Given the description of an element on the screen output the (x, y) to click on. 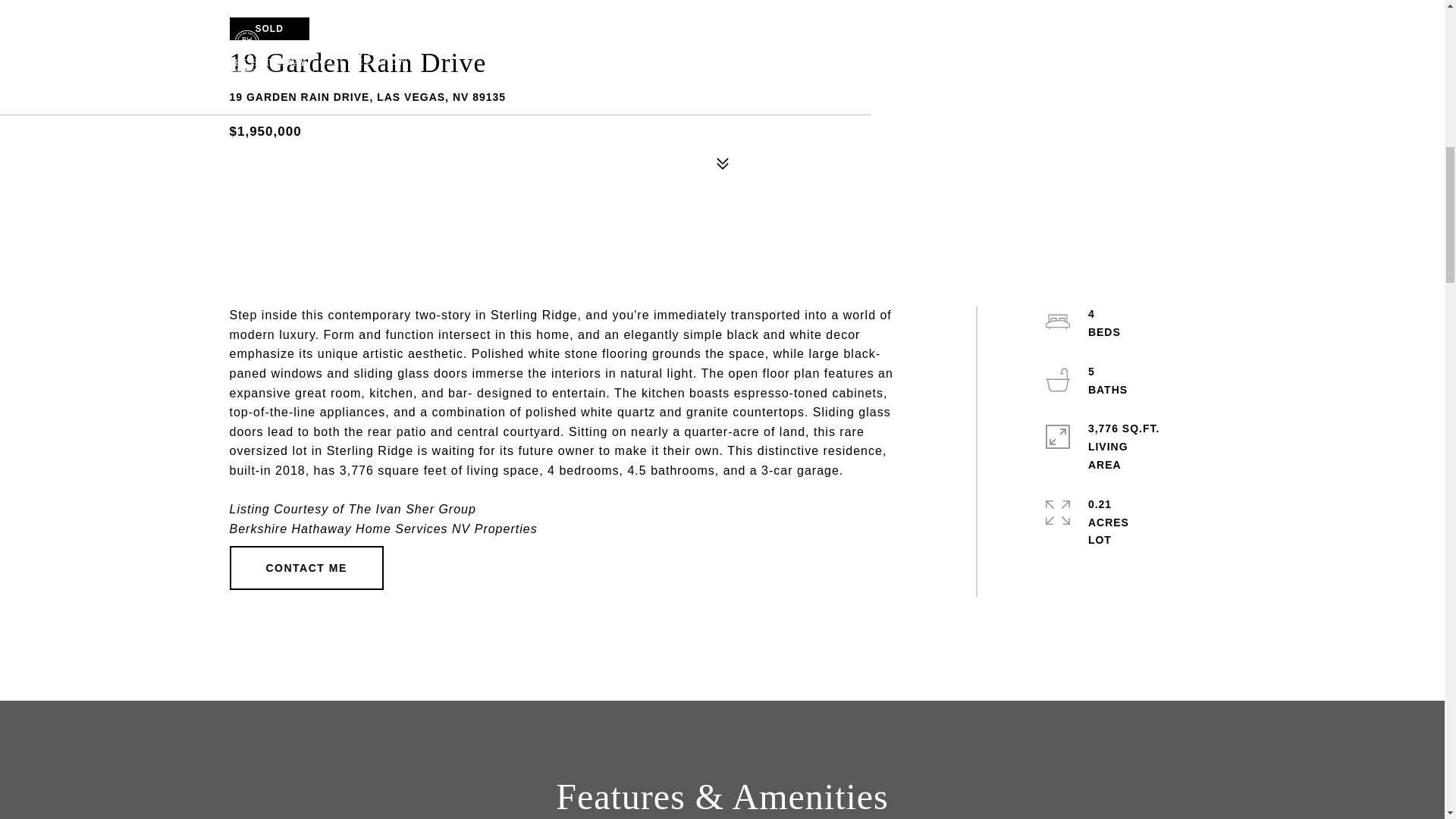
CONTACT ME (305, 567)
